Given the description of an element on the screen output the (x, y) to click on. 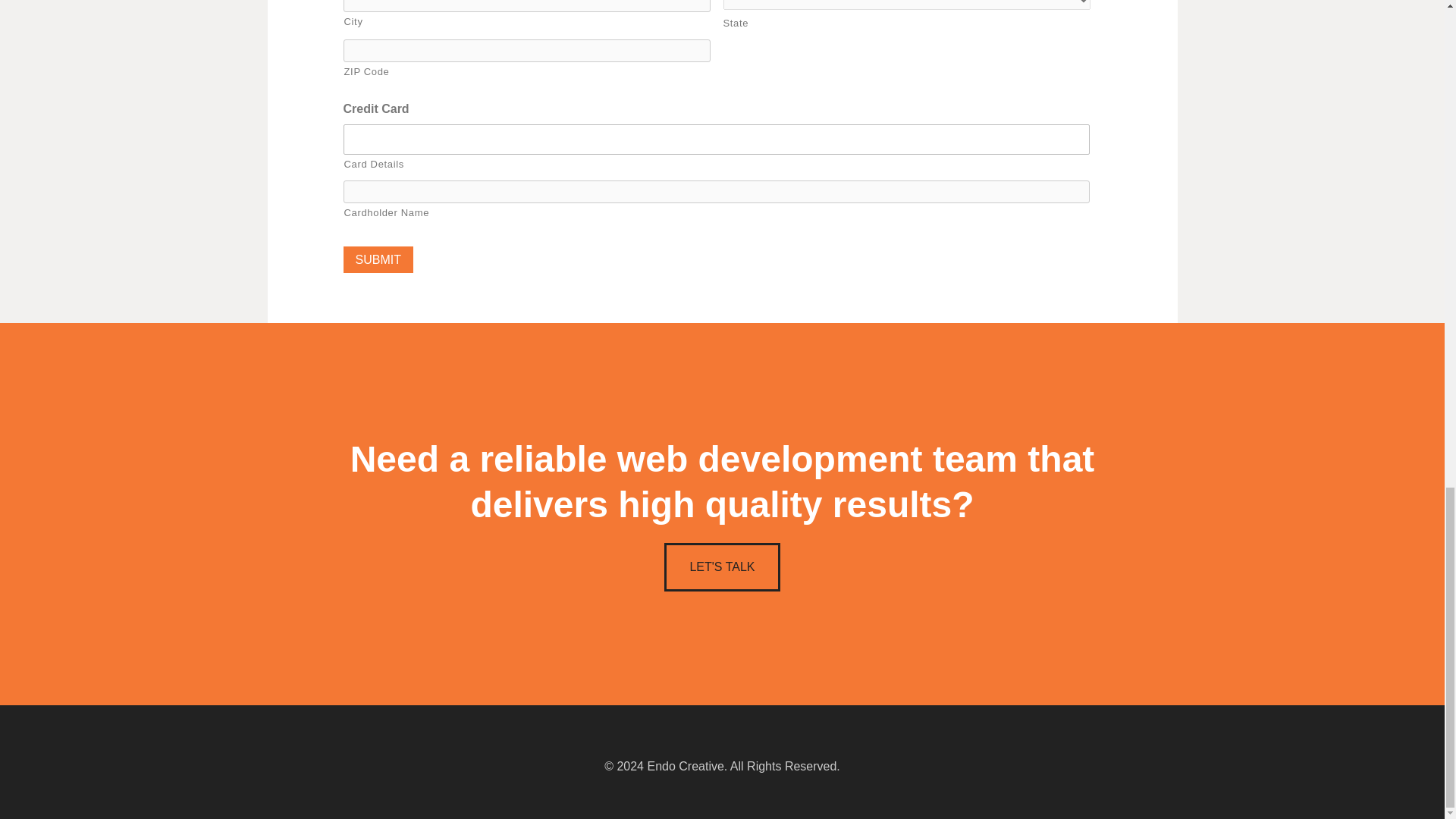
Submit (377, 259)
Submit (377, 259)
LET'S TALK (720, 566)
Secure payment input frame (716, 138)
